Given the description of an element on the screen output the (x, y) to click on. 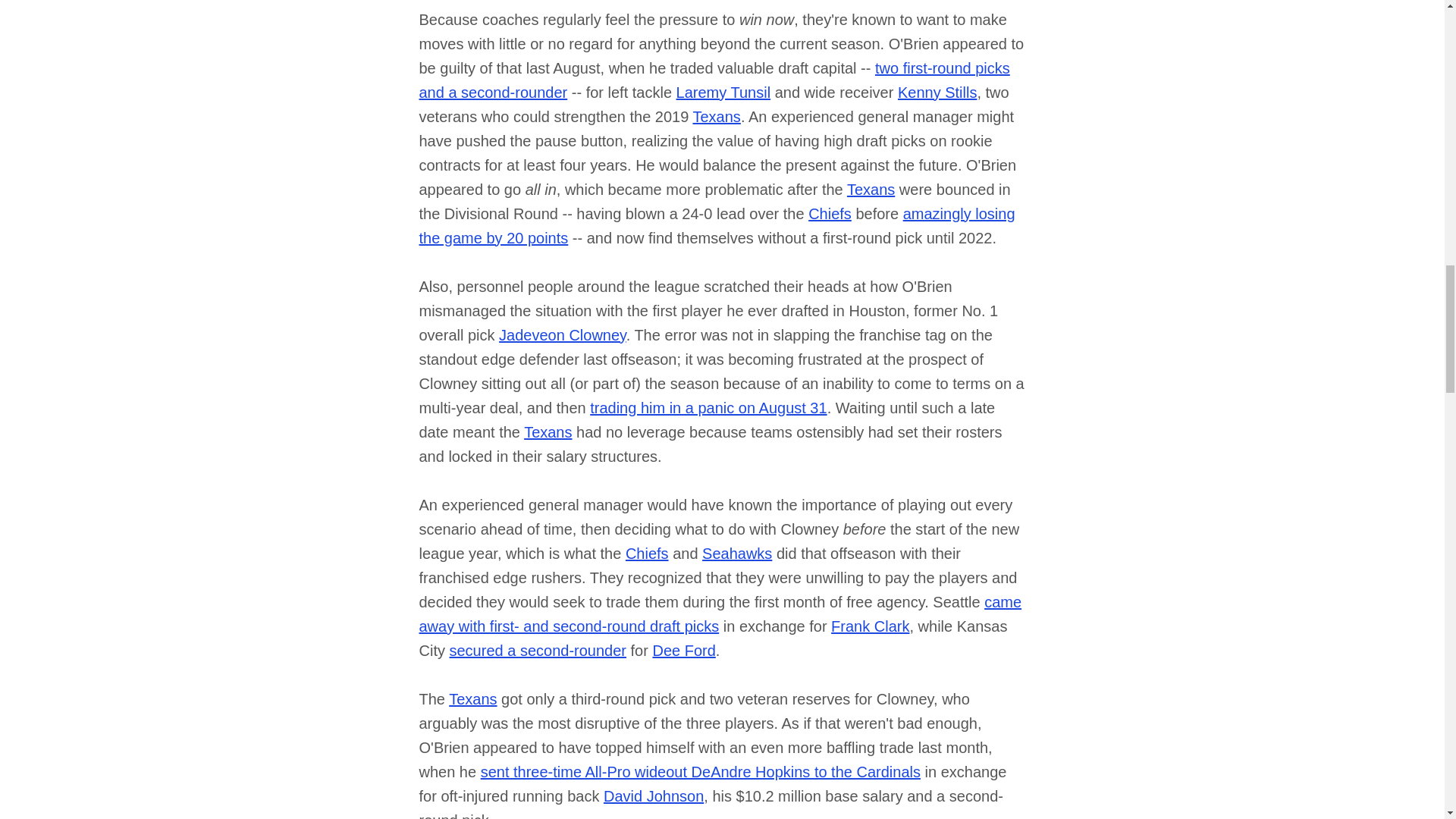
Texans (871, 189)
Texans (548, 432)
Texans (472, 699)
Texans (717, 116)
trading him in a panic on August 31 (708, 407)
Kenny Stills (937, 92)
Dee Ford (683, 650)
Chiefs (647, 553)
Chiefs (829, 213)
secured a second-rounder (537, 650)
